Given the description of an element on the screen output the (x, y) to click on. 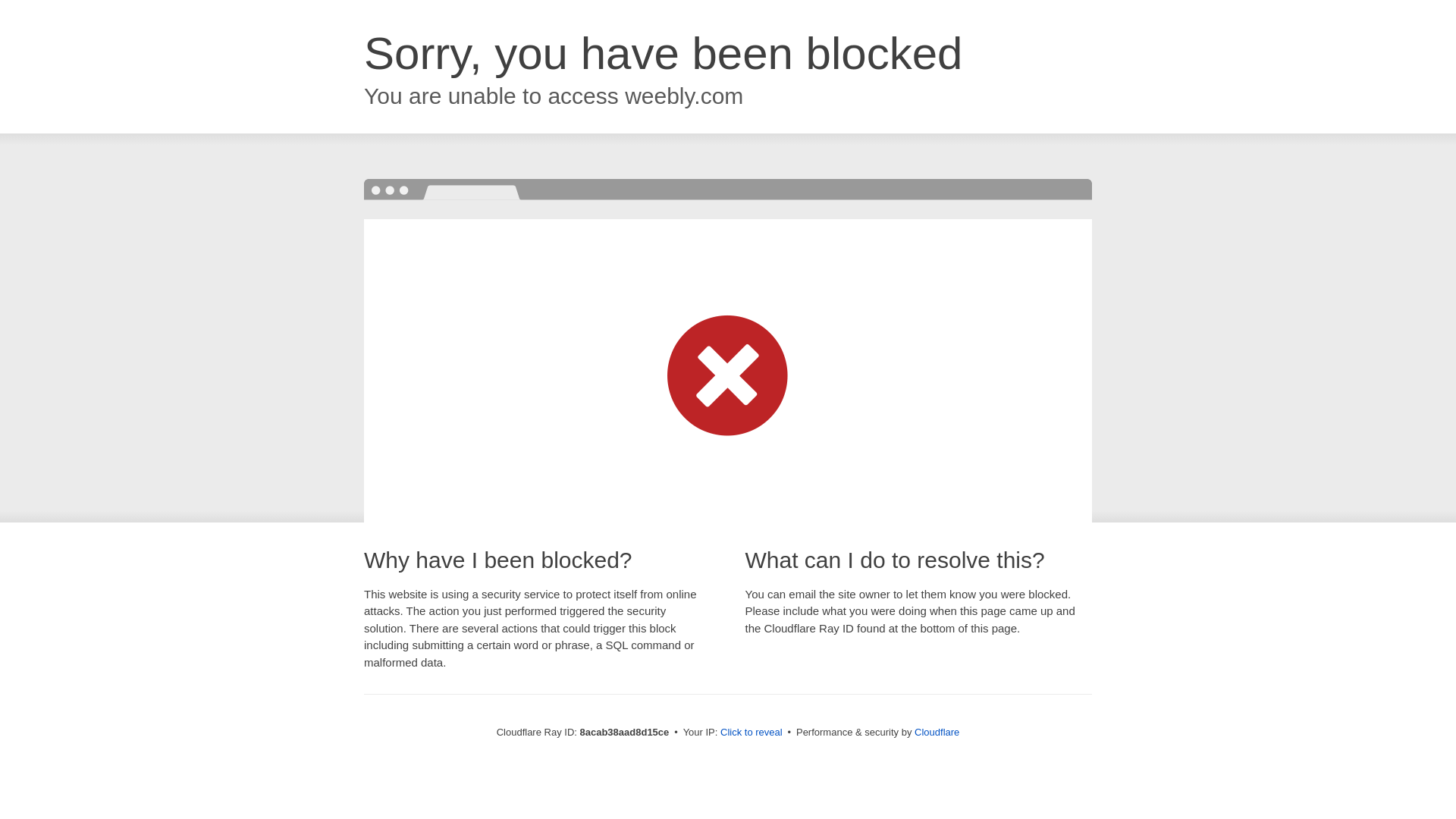
Click to reveal (751, 732)
Cloudflare (936, 731)
